Given the description of an element on the screen output the (x, y) to click on. 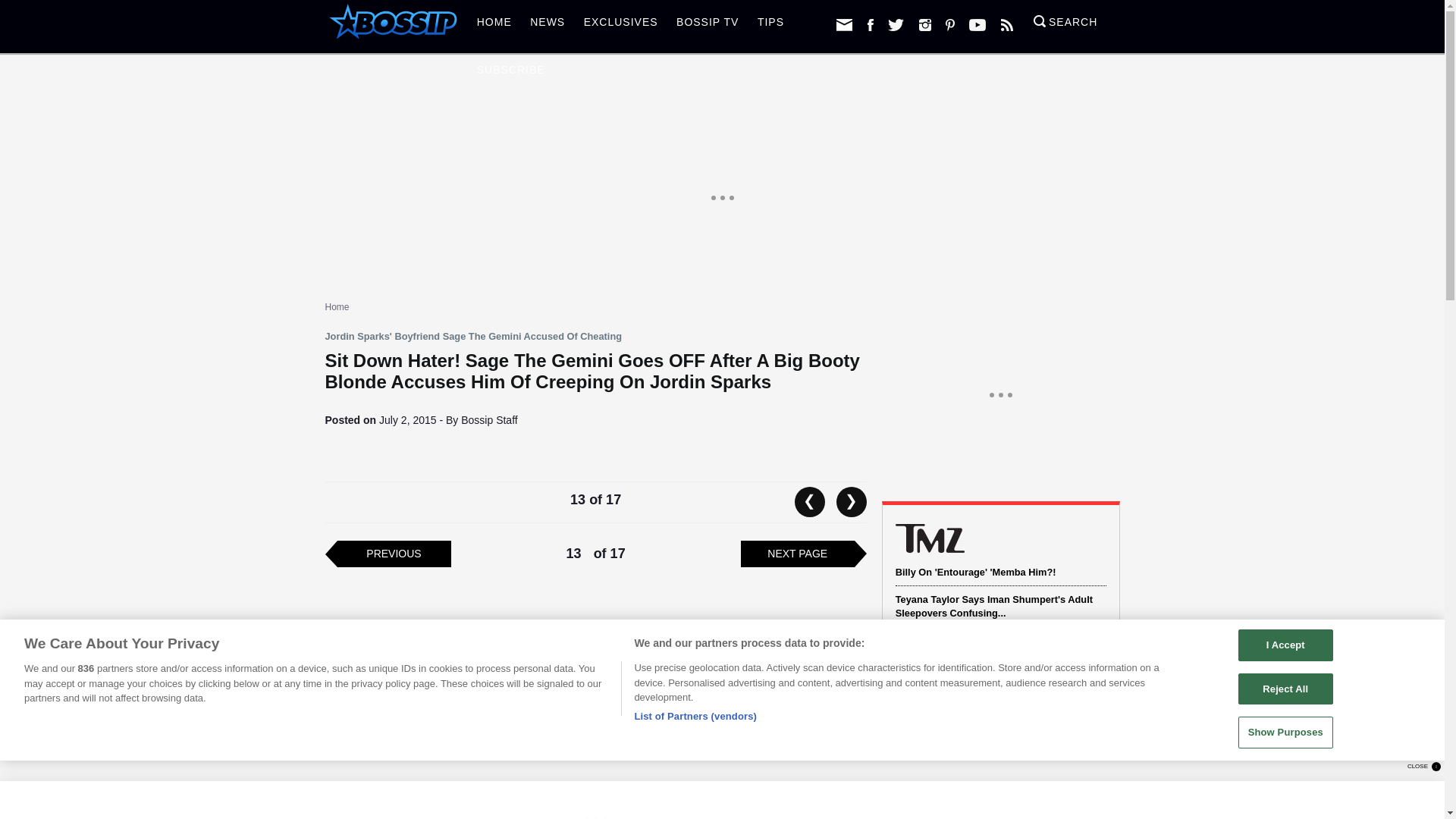
Follow Bossip on Twitter (896, 24)
newsletter (843, 24)
HOME (493, 26)
twitter (896, 24)
PREVIOUS (392, 553)
NEWS (547, 26)
youtube (977, 24)
TIPS (770, 26)
NEXT PAGE (797, 553)
Subscribe to Bossip on YouTube (977, 24)
Subscribe to our newsletter (843, 24)
SEARCH (1065, 26)
instagram (924, 24)
Follow Bossip with RSS (1007, 24)
Home (336, 307)
